Given the description of an element on the screen output the (x, y) to click on. 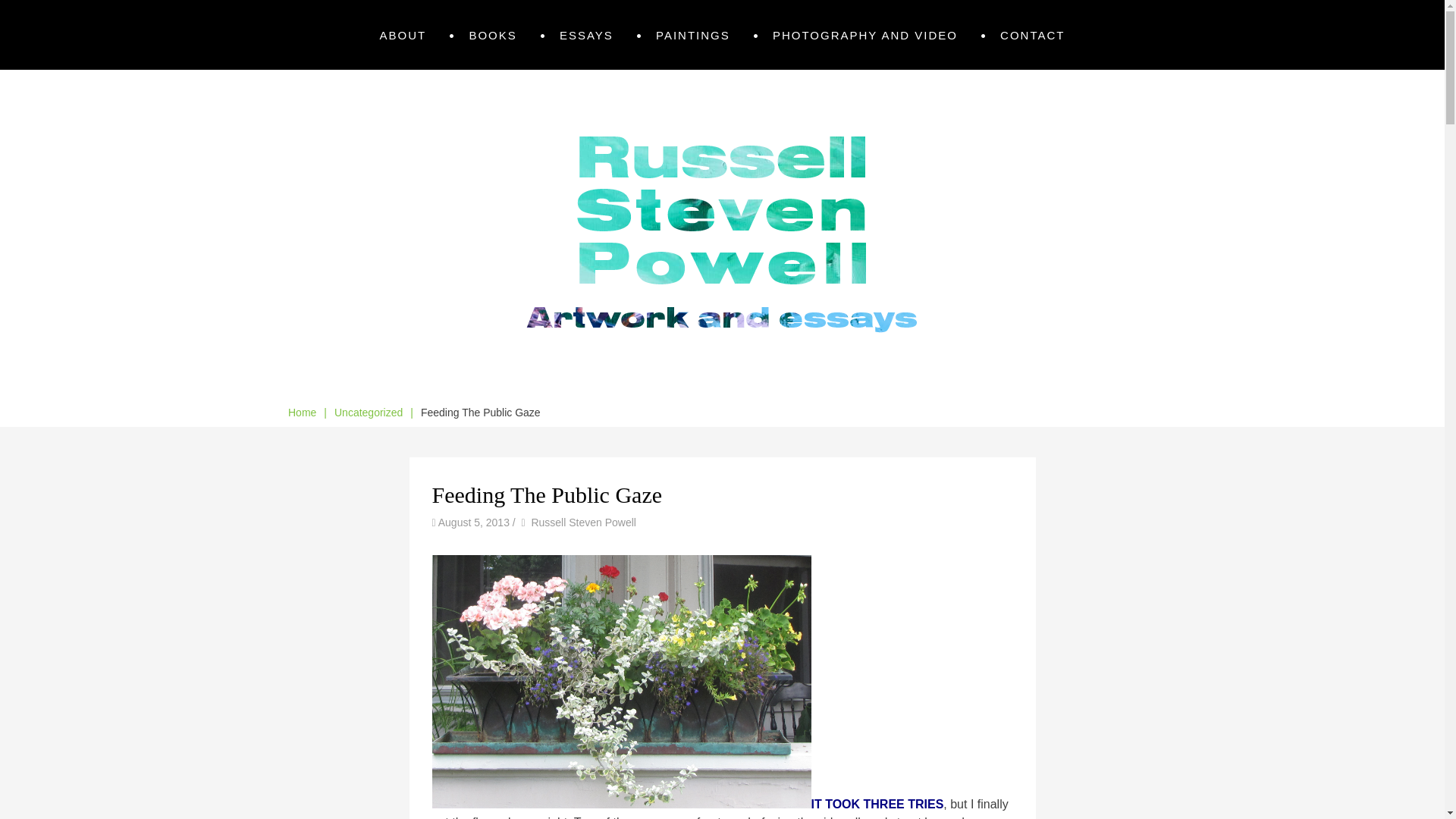
View all posts by Russell Steven Powell (583, 522)
RUSSELL STEVEN POWELL (514, 122)
PHOTOGRAPHY AND VIDEO (865, 35)
PAINTINGS (693, 35)
BOOKS (492, 35)
ABOUT (403, 35)
Russell Steven Powell (583, 522)
CONTACT (1032, 35)
ESSAYS (585, 35)
